Given the description of an element on the screen output the (x, y) to click on. 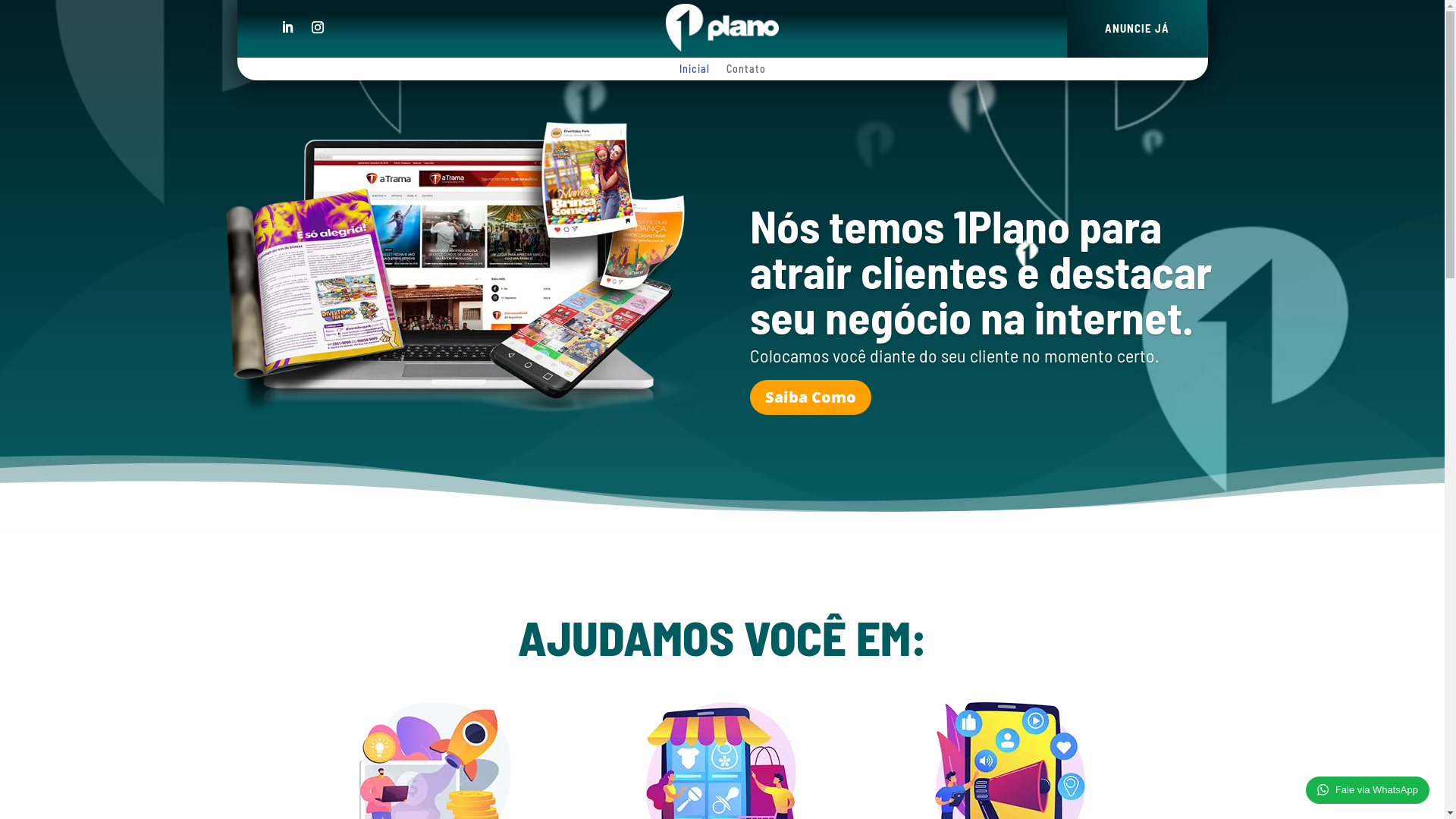
logo1plano_branco Element type: hover (721, 27)
Contato Element type: text (745, 71)
Saiba Como Element type: text (810, 396)
Inicial Element type: text (694, 71)
Siga em Instagram Element type: hover (316, 27)
Siga em LinkedIn Element type: hover (286, 27)
